Given the description of an element on the screen output the (x, y) to click on. 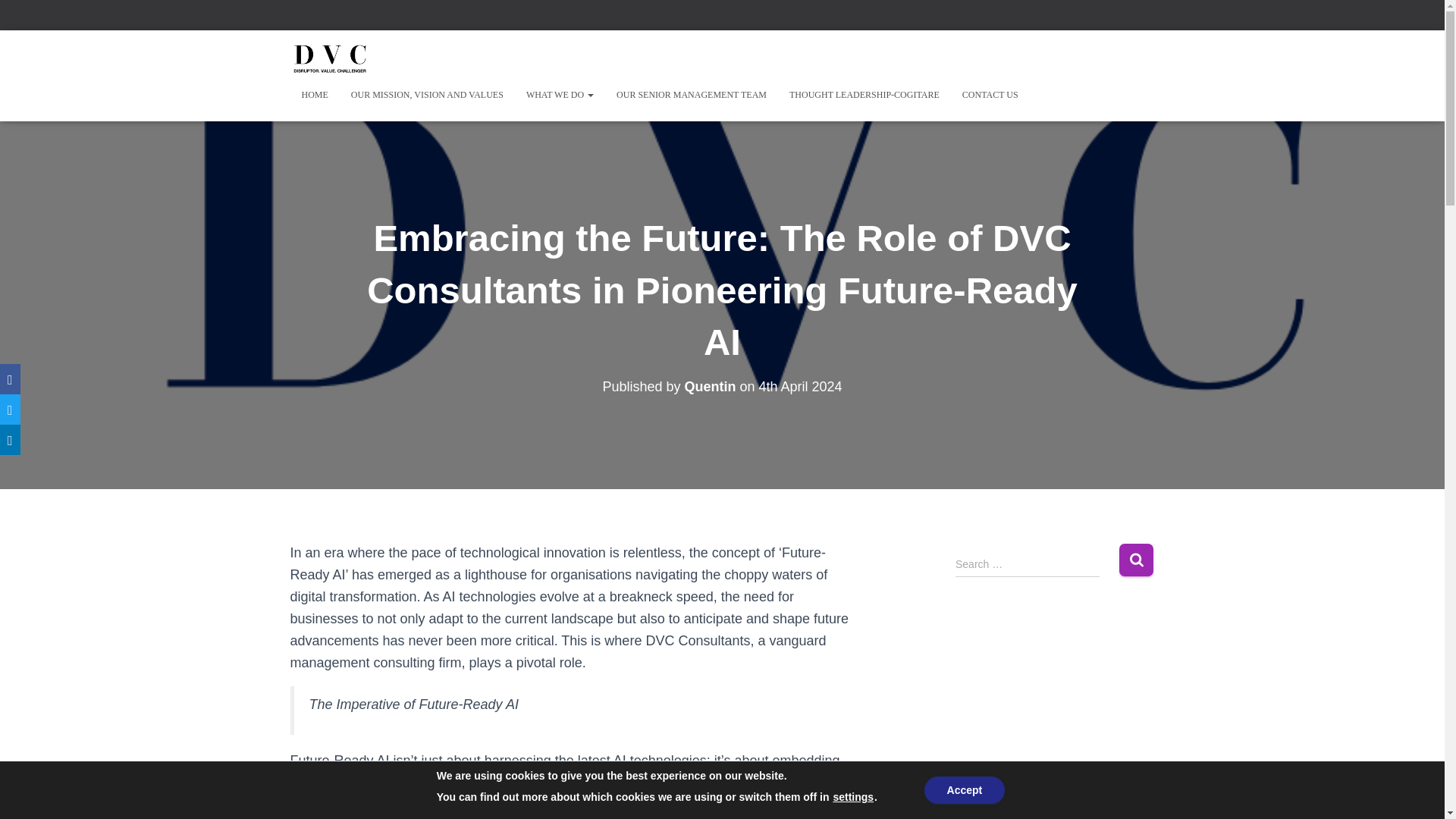
WHAT WE DO (560, 94)
settings (852, 796)
THOUGHT LEADERSHIP-COGITARE (863, 94)
Home (314, 94)
Search (1136, 559)
Quentin (709, 386)
HOME (314, 94)
CONTACT US (989, 94)
Accept (965, 789)
Thought Leadership-Cogitare (863, 94)
Search (1136, 559)
What We Do (560, 94)
Contact Us (989, 94)
OUR SENIOR MANAGEMENT TEAM (691, 94)
OUR MISSION, VISION AND VALUES (427, 94)
